Given the description of an element on the screen output the (x, y) to click on. 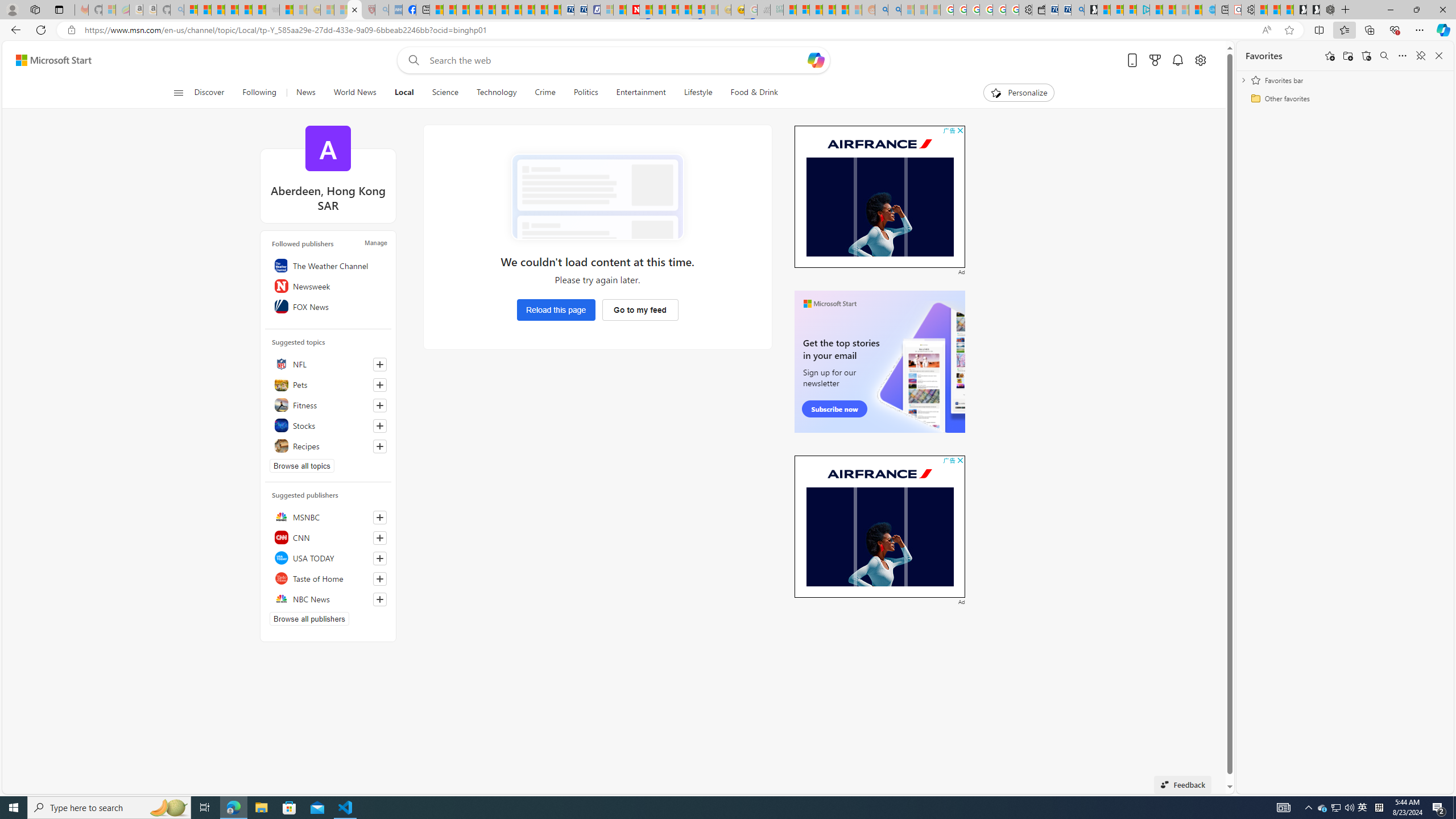
AutomationID: cbb (959, 460)
Browse all publishers (309, 618)
Unpin favorites (1420, 55)
Browse all topics (301, 465)
Follow this source (379, 599)
Food & Drink (748, 92)
Latest Politics News & Archive | Newsweek.com (633, 9)
Open navigation menu (177, 92)
